Given the description of an element on the screen output the (x, y) to click on. 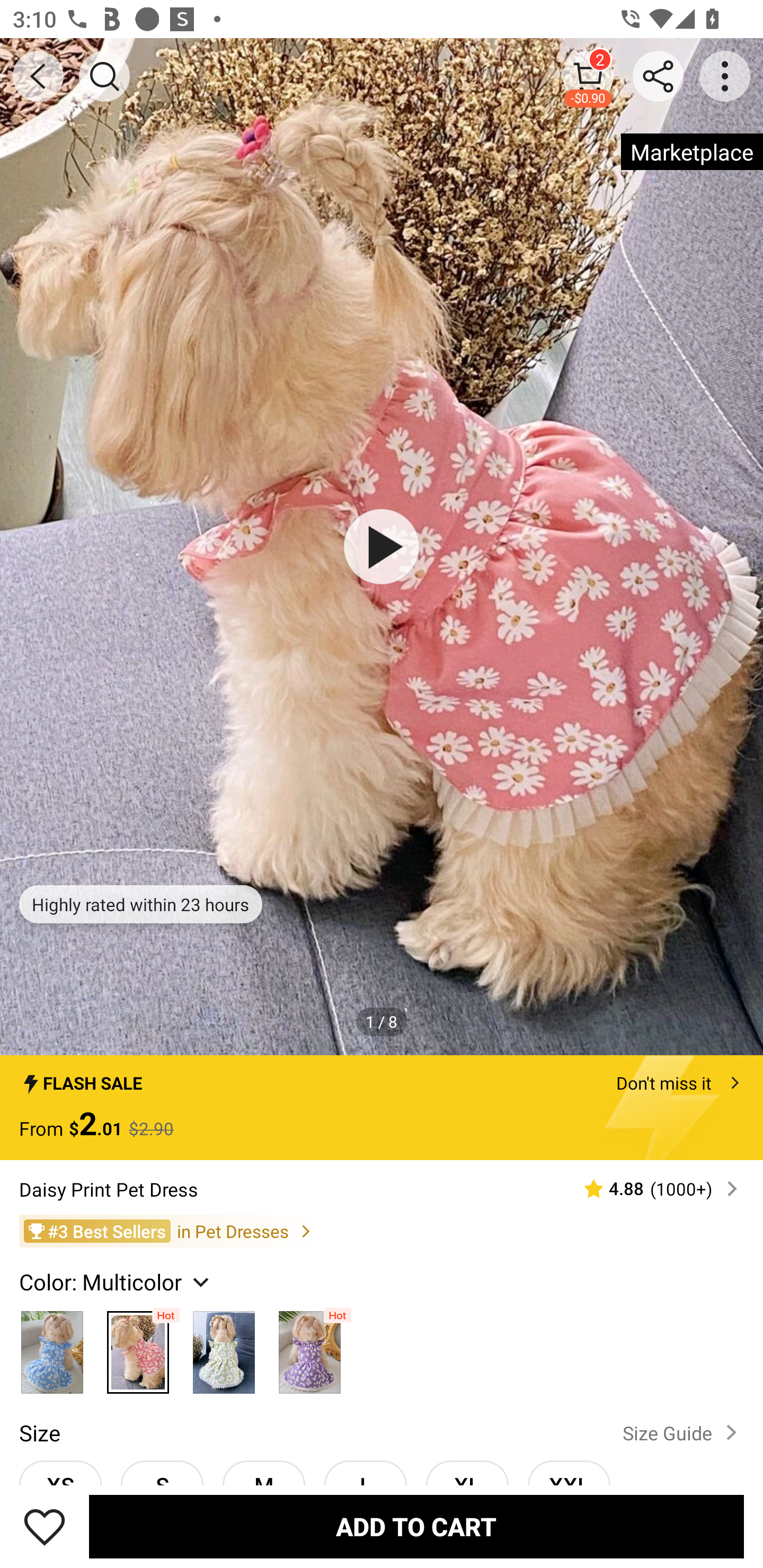
BACK (38, 75)
2 -$0.90 (588, 75)
1 / 8 (381, 1021)
FLASH SALE Don't miss it From  $2.01 $2.90 (381, 1107)
FLASH SALE Don't miss it (381, 1077)
4.88 (1000‎+) (653, 1188)
#3 Best Sellers in Pet Dresses (381, 1231)
Color: Multicolor (116, 1281)
Blue (52, 1347)
Multicolor (138, 1347)
Multicolor (224, 1347)
Purple (309, 1347)
Size (39, 1432)
Size Guide (682, 1432)
ADD TO CART (416, 1526)
Save (44, 1526)
